Given the description of an element on the screen output the (x, y) to click on. 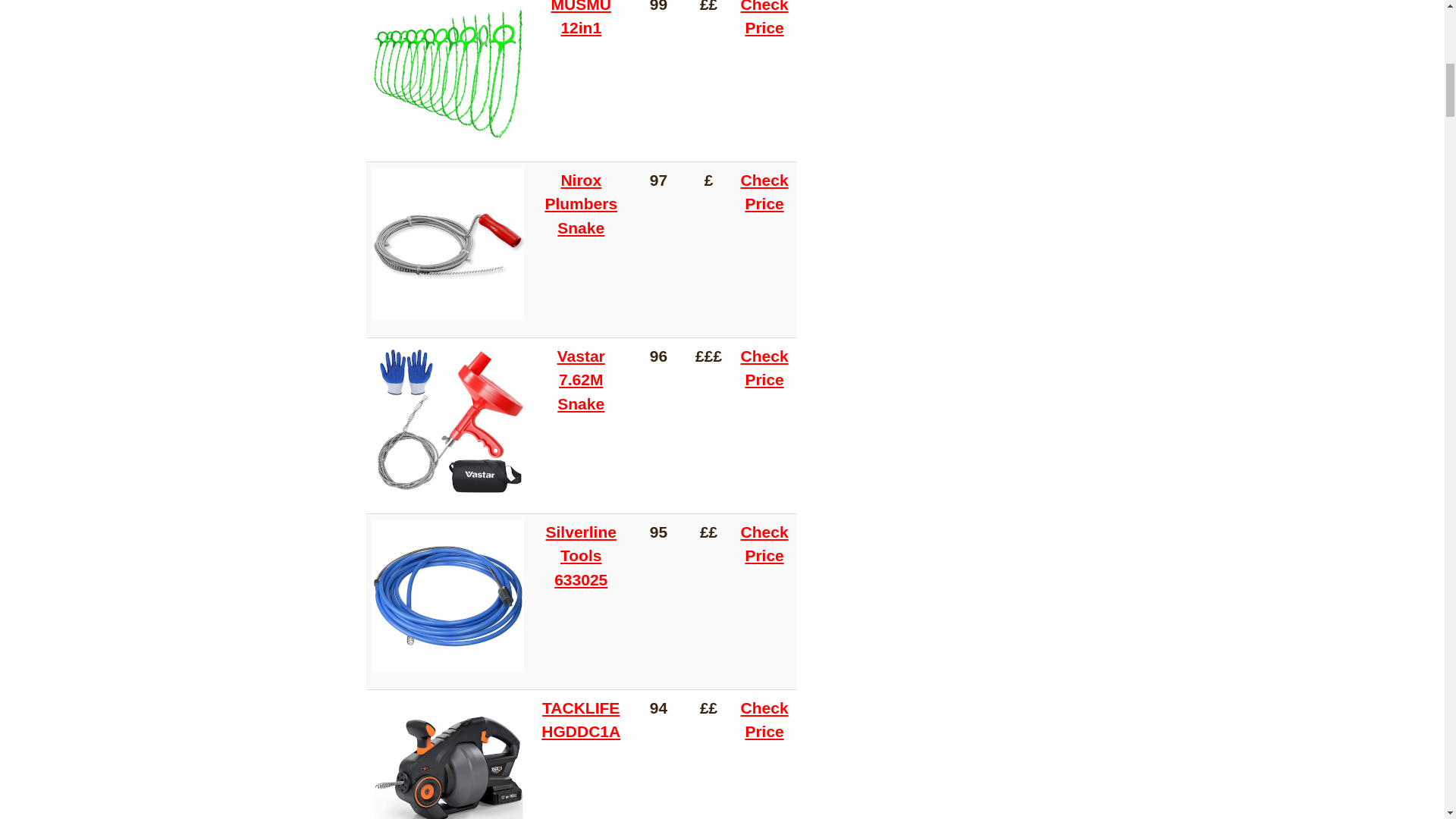
Check Price (764, 371)
Check Price (764, 23)
Check Price (764, 195)
Check Price (764, 723)
Vastar 7.62M Snake (580, 383)
TACKLIFE HGDDC1A (580, 723)
Nirox Plumbers Snake (580, 208)
Silverline Tools 633025 (580, 559)
Check Price (764, 547)
MUSMU 12in1 (580, 23)
